Given the description of an element on the screen output the (x, y) to click on. 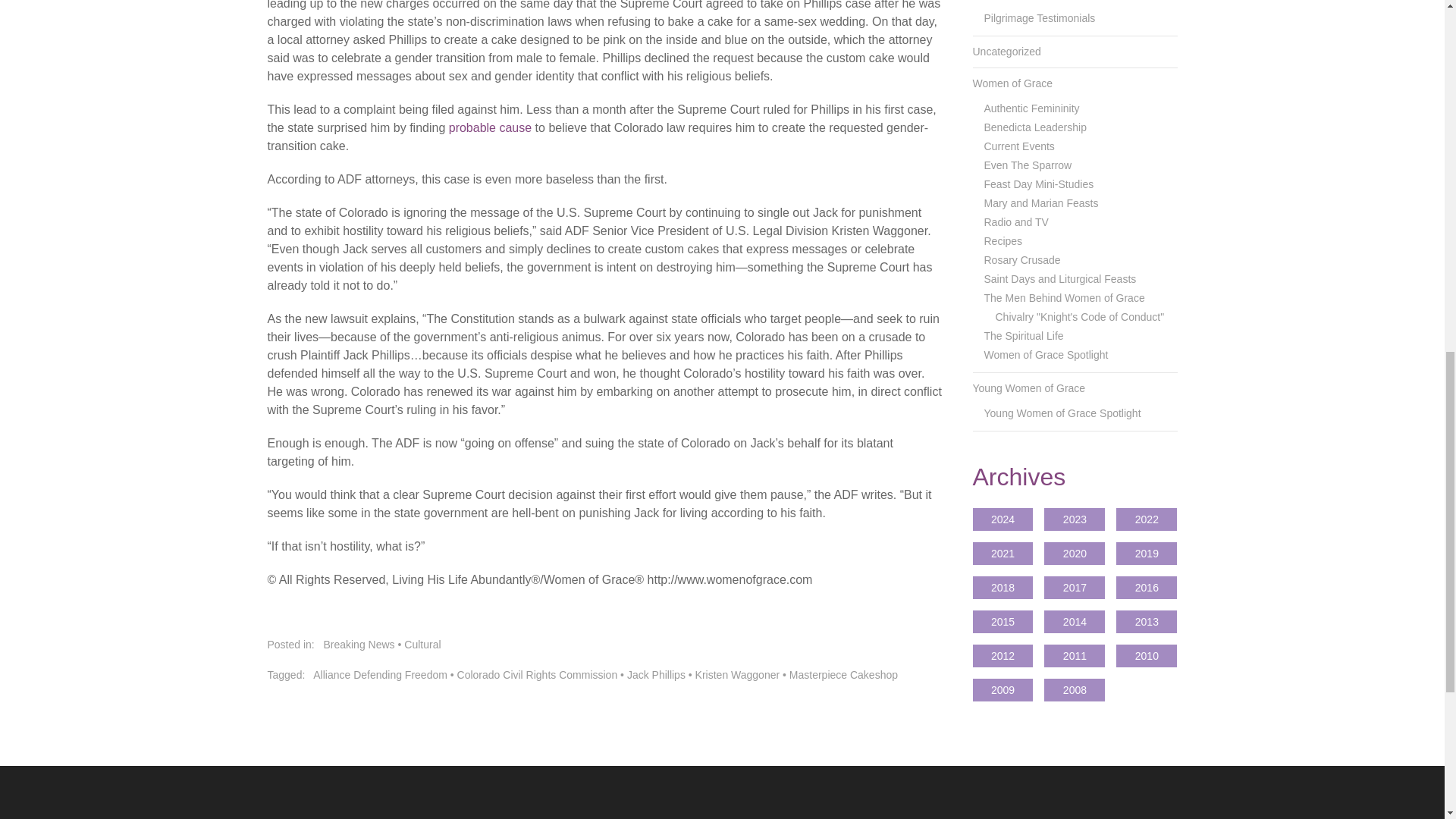
Jack Phillips (656, 674)
probable cause (489, 127)
Masterpiece Cakeshop (843, 674)
Colorado Civil Rights Commission (537, 674)
Cultural (422, 644)
Breaking News (358, 644)
Alliance Defending Freedom (379, 674)
Kristen Waggoner (737, 674)
